Given the description of an element on the screen output the (x, y) to click on. 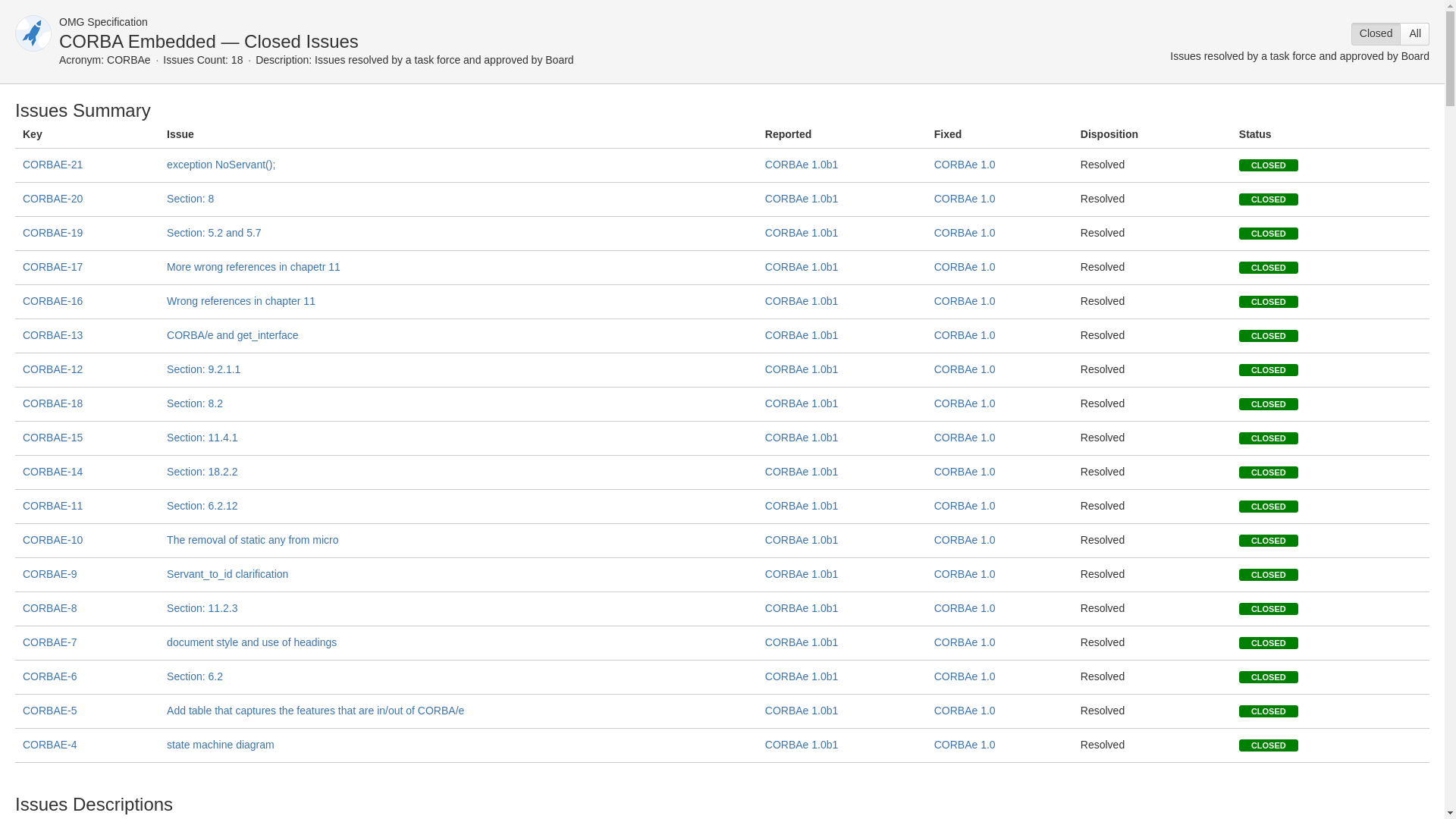
All Issues (1414, 33)
CORBAe 1.0 (964, 232)
Section: 11.4.1 (202, 437)
CORBAe 1.0b1 (801, 198)
CORBAE-14 (52, 471)
CORBAe 1.0 (964, 300)
CORBAe 1.0 (964, 369)
CORBAE-18 (52, 403)
CORBAe 1.0 (964, 437)
All (1414, 33)
CORBAe 1.0 (964, 266)
CORBAE-17 (52, 266)
Wrong references in chapter 11 (241, 300)
CORBAE-15 (52, 437)
